Given the description of an element on the screen output the (x, y) to click on. 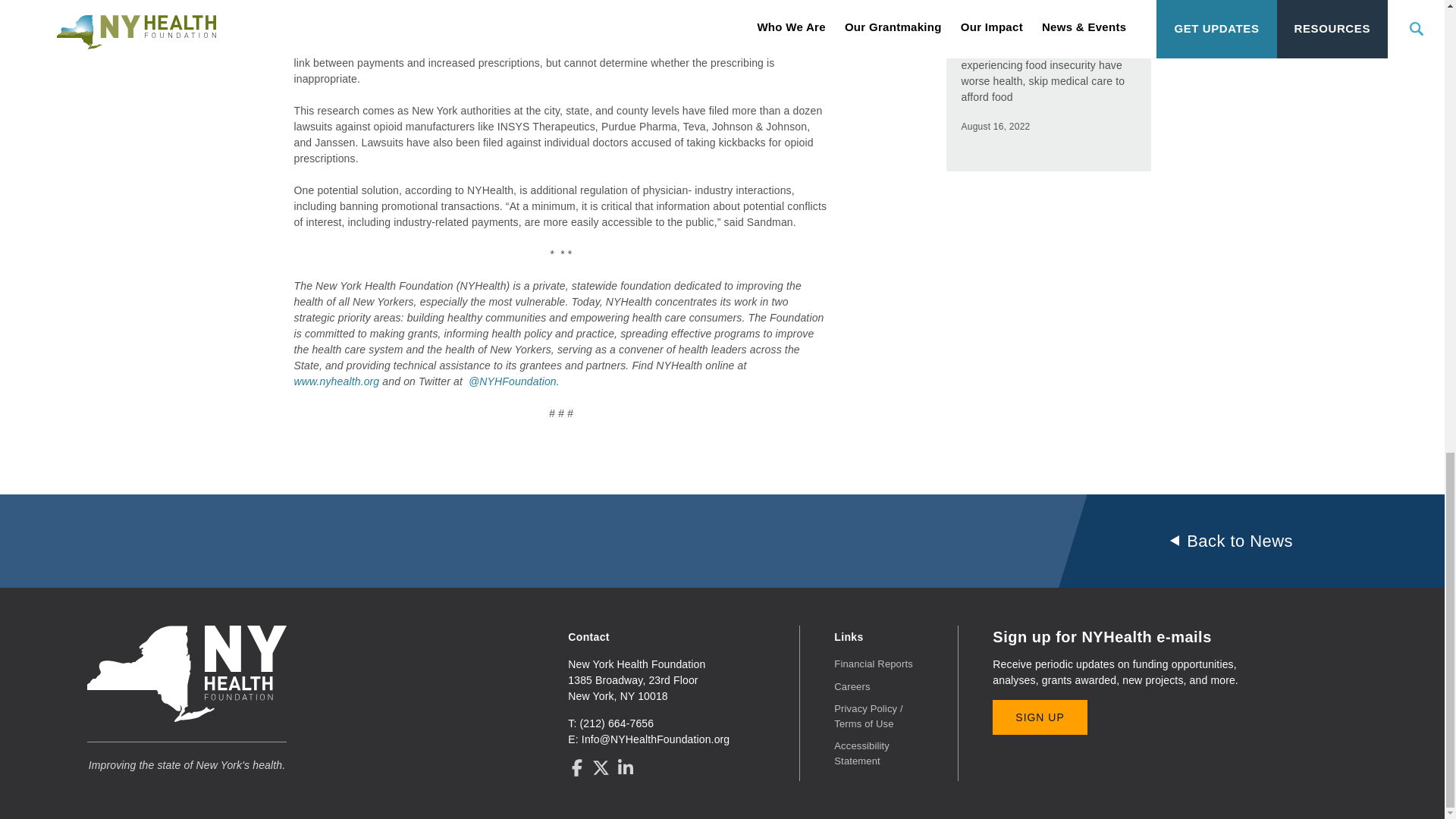
Careers (851, 685)
Financial Reports (873, 663)
www.nyhealth.org (338, 381)
